Given the description of an element on the screen output the (x, y) to click on. 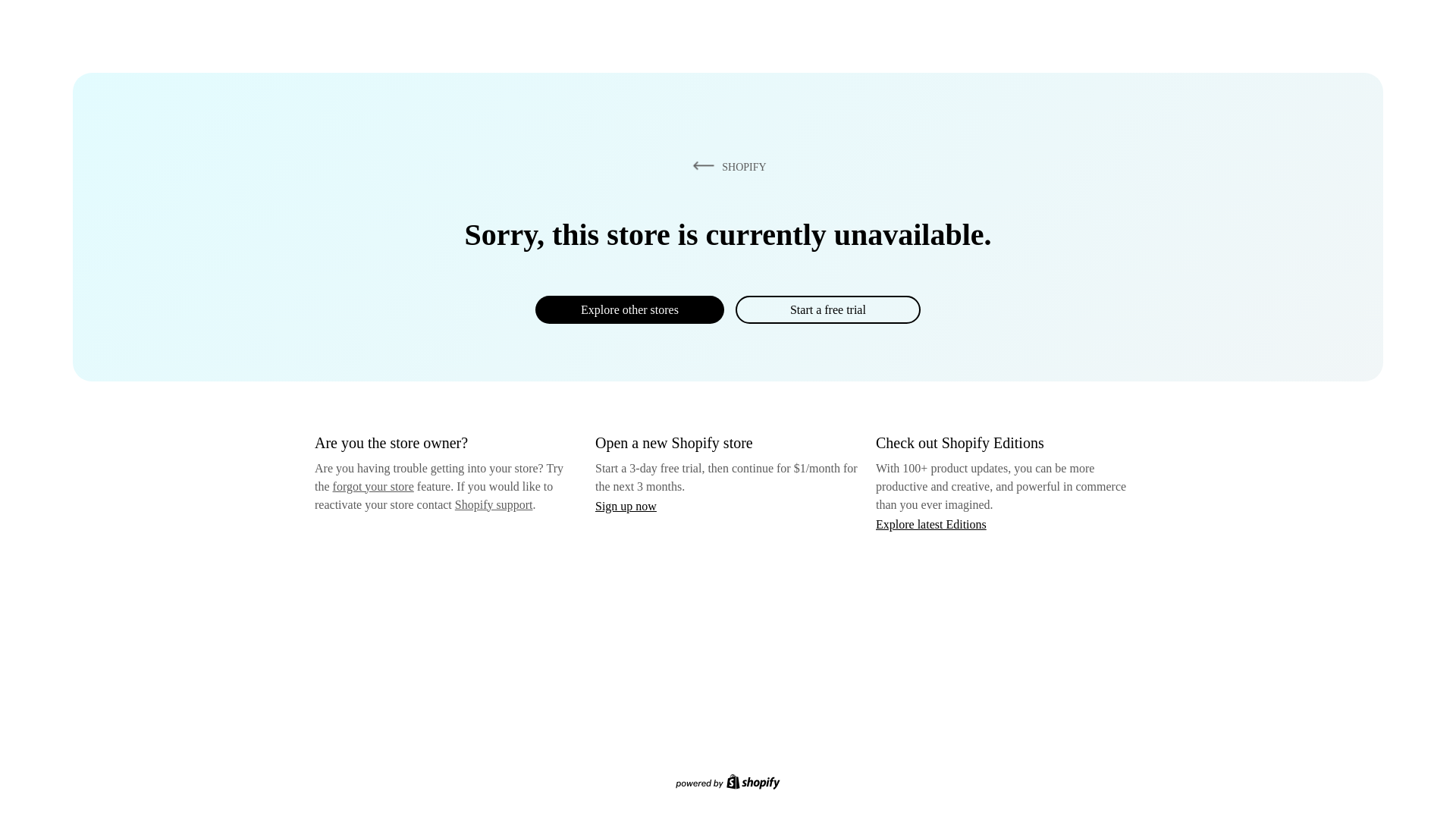
SHOPIFY (726, 166)
Shopify support (493, 504)
Explore other stores (629, 309)
Sign up now (625, 505)
Explore latest Editions (931, 523)
Start a free trial (827, 309)
forgot your store (373, 486)
